Given the description of an element on the screen output the (x, y) to click on. 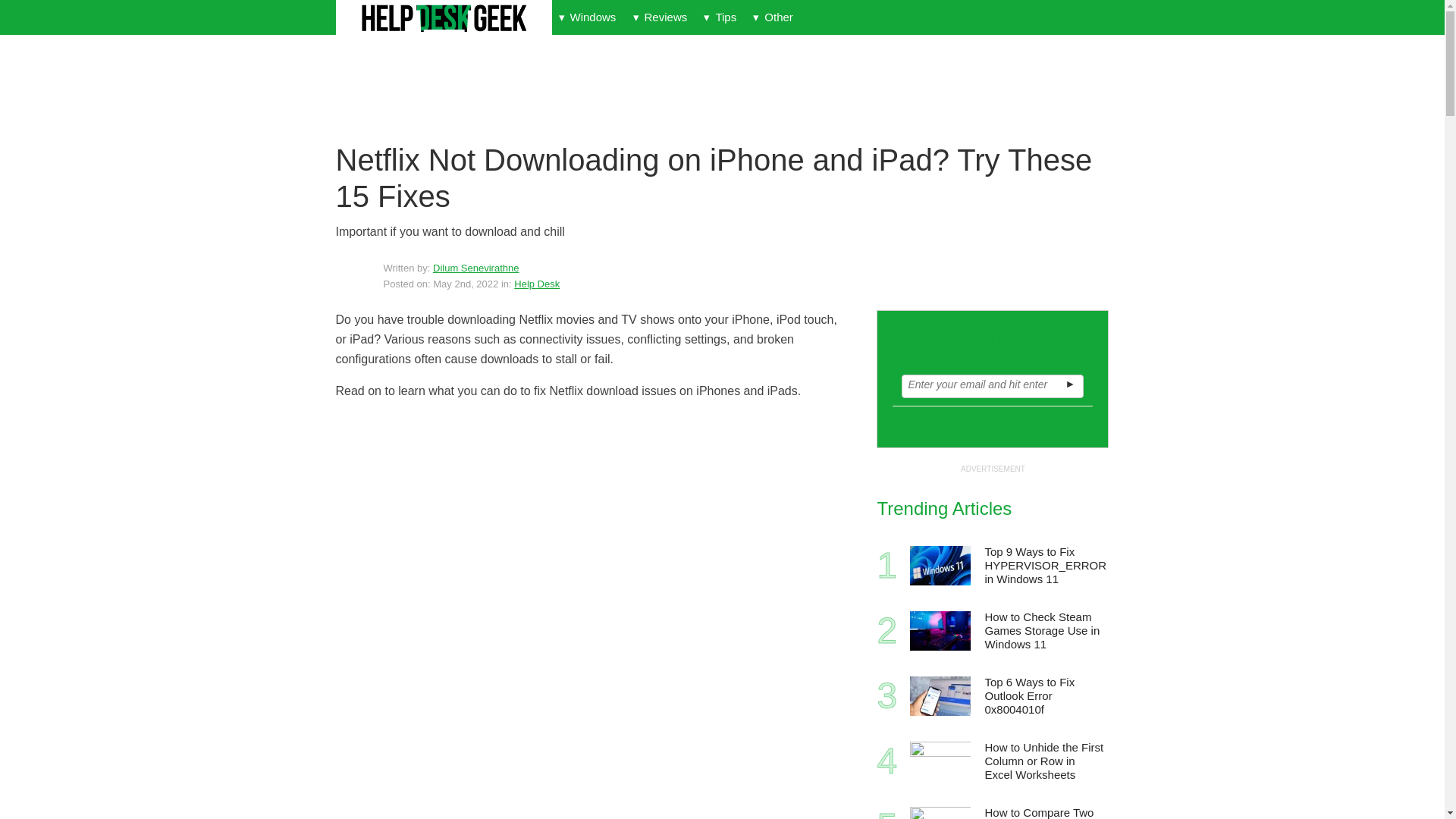
Top 6 Ways to Fix Outlook Error 0x8004010f (940, 695)
Top 6 Ways to Fix Outlook Error 0x8004010f (1044, 695)
Tips (719, 17)
Other (772, 17)
Windows (587, 17)
How to Check Steam Games Storage Use in Windows 11 (940, 630)
Monday, May 2, 2022, 6:00 pm (464, 283)
How to Compare Two Folders or Directories in Windows (1044, 811)
Help Desk Geek (443, 17)
Reviews (660, 17)
How to Check Steam Games Storage Use in Windows 11 (1044, 630)
Help Desk Geek (443, 17)
How to Compare Two Folders or Directories in Windows (940, 812)
How to Unhide the First Column or Row in Excel Worksheets (940, 761)
How to Unhide the First Column or Row in Excel Worksheets (1044, 760)
